Given the description of an element on the screen output the (x, y) to click on. 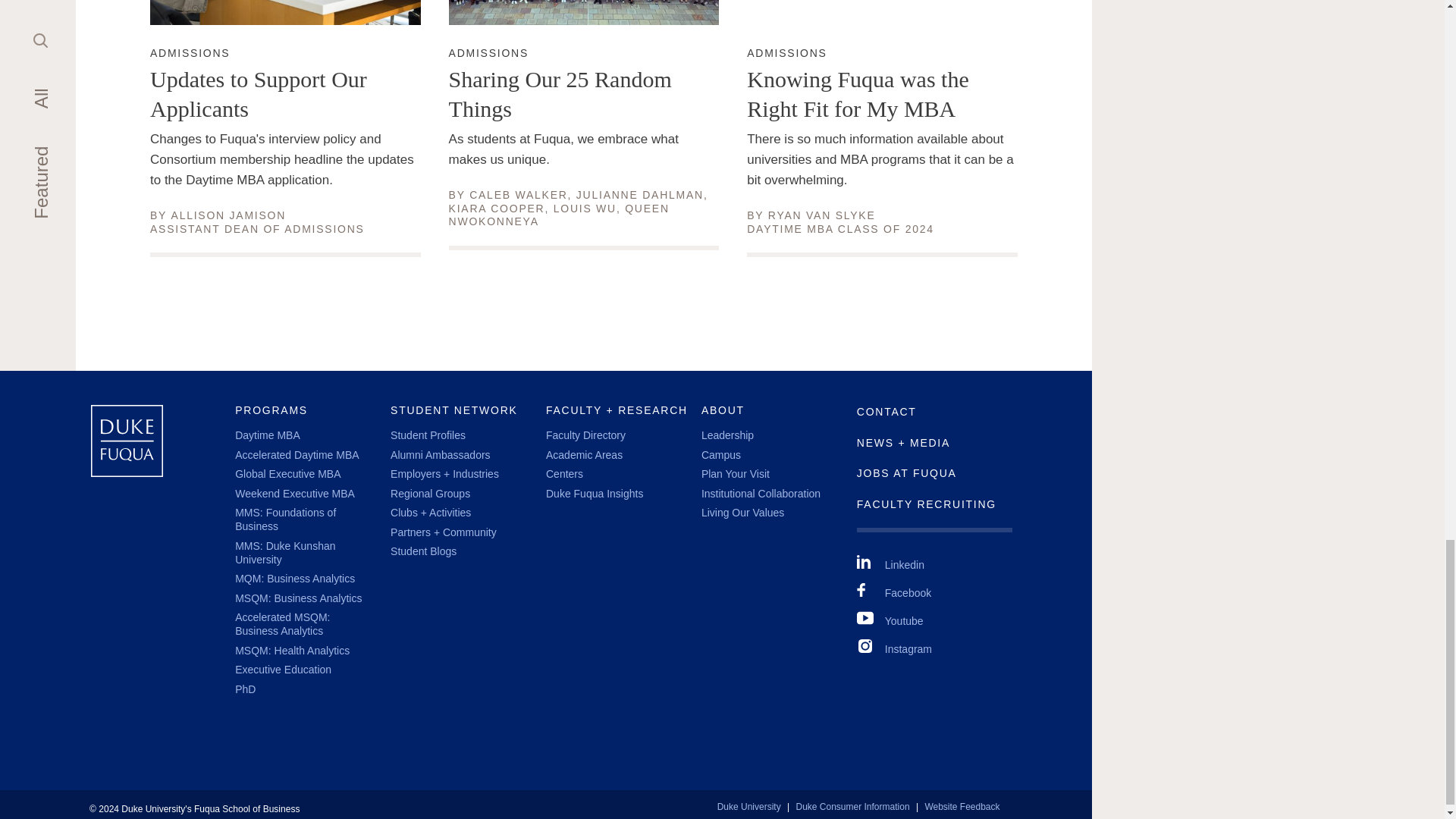
MSQM: Business Analytics (297, 598)
Daytime MBA (228, 215)
Knowing Fuqua was the Right Fit for My MBA (266, 435)
Sharing Our 25 Random Things (881, 93)
Global Executive MBA (584, 208)
Updates to Support Our Applicants (583, 93)
Accelerated Daytime MBA (287, 473)
